Given the description of an element on the screen output the (x, y) to click on. 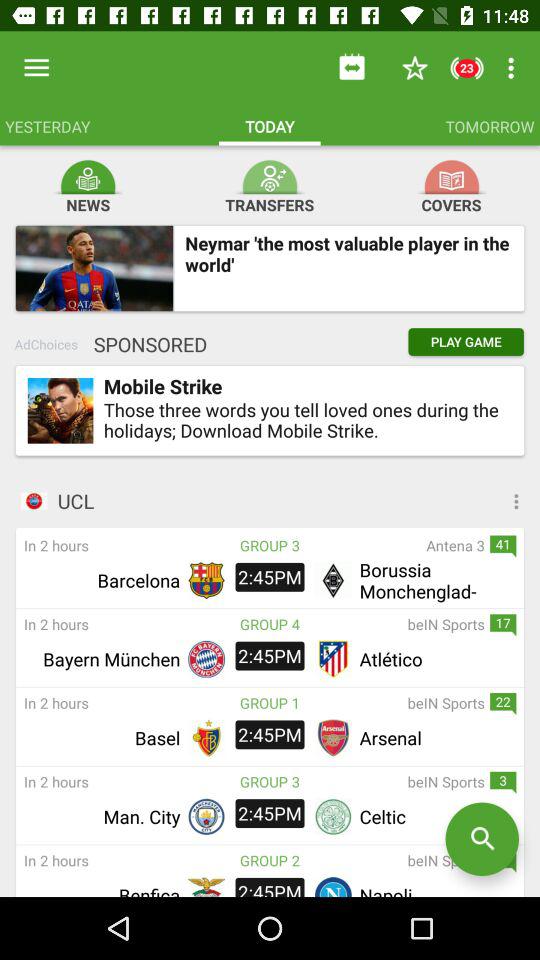
show more options (441, 501)
